Given the description of an element on the screen output the (x, y) to click on. 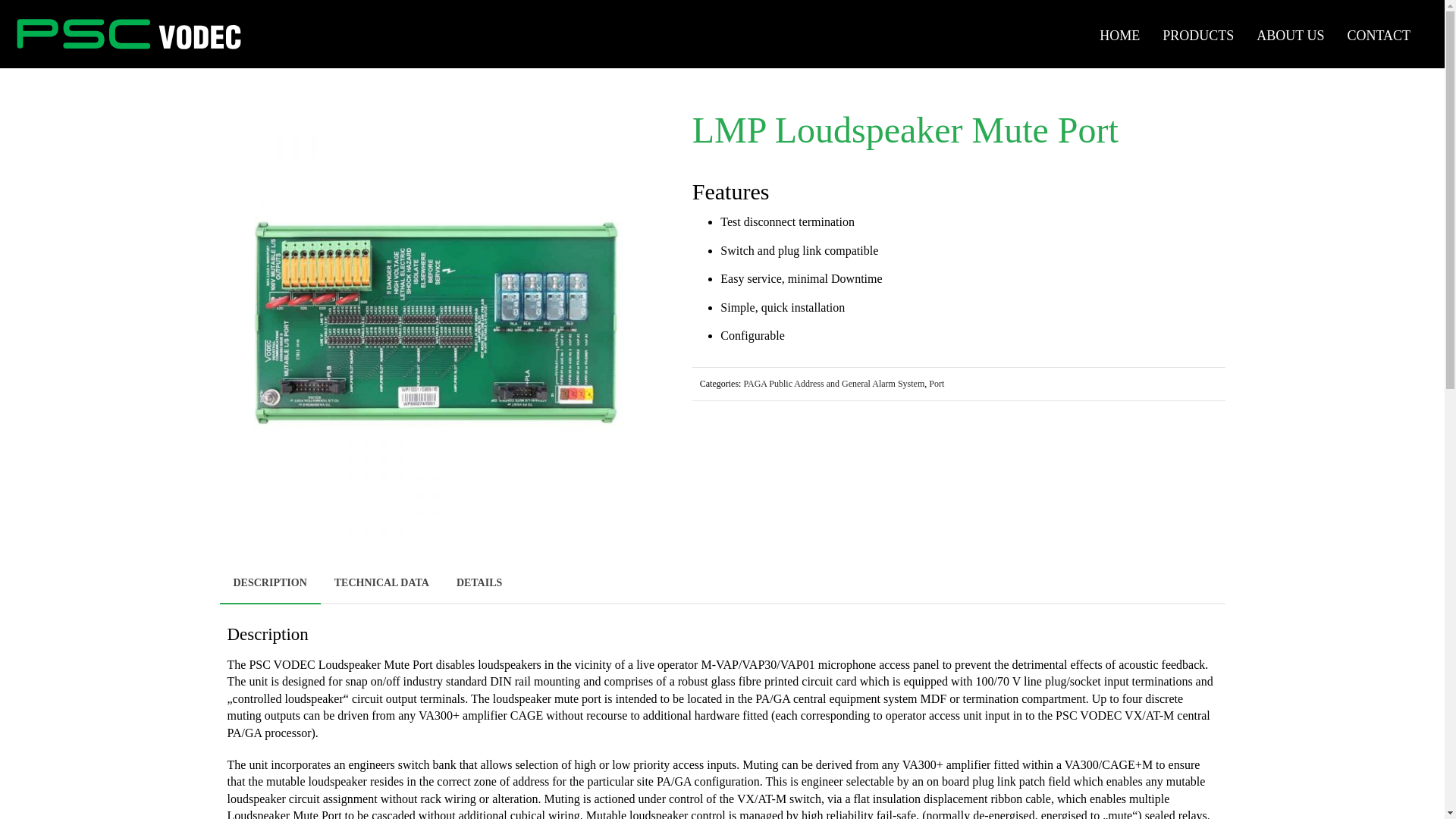
Port (935, 383)
CONTACT (1378, 33)
CONTACT (1378, 33)
PRODUCTS (1197, 33)
DETAILS (478, 582)
ABOUT US (1289, 33)
HOME (1119, 33)
ABOUT US (1289, 33)
PAGA Public Address and General Alarm System (833, 383)
HOME (1119, 33)
Just another WordPress site (128, 34)
TECHNICAL DATA (381, 582)
DESCRIPTION (269, 583)
PRODUCTS (1197, 33)
